Given the description of an element on the screen output the (x, y) to click on. 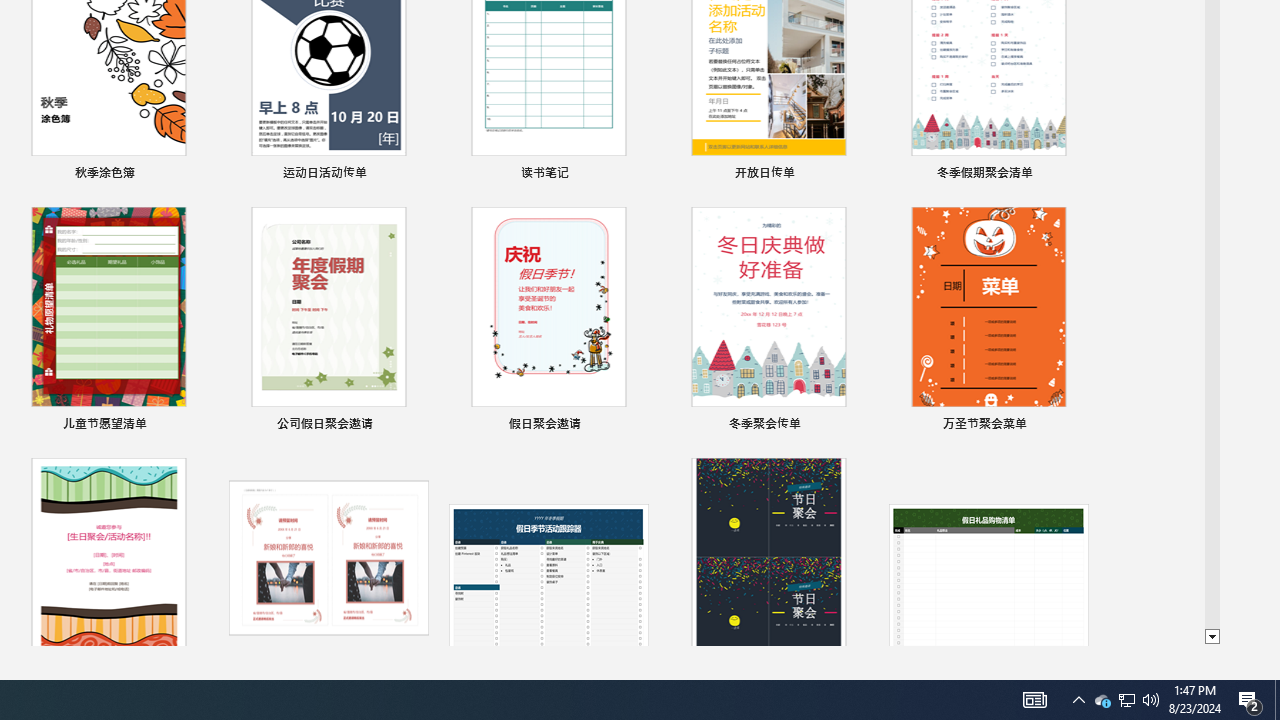
Pin to list (1075, 425)
Line down (1212, 637)
